Given the description of an element on the screen output the (x, y) to click on. 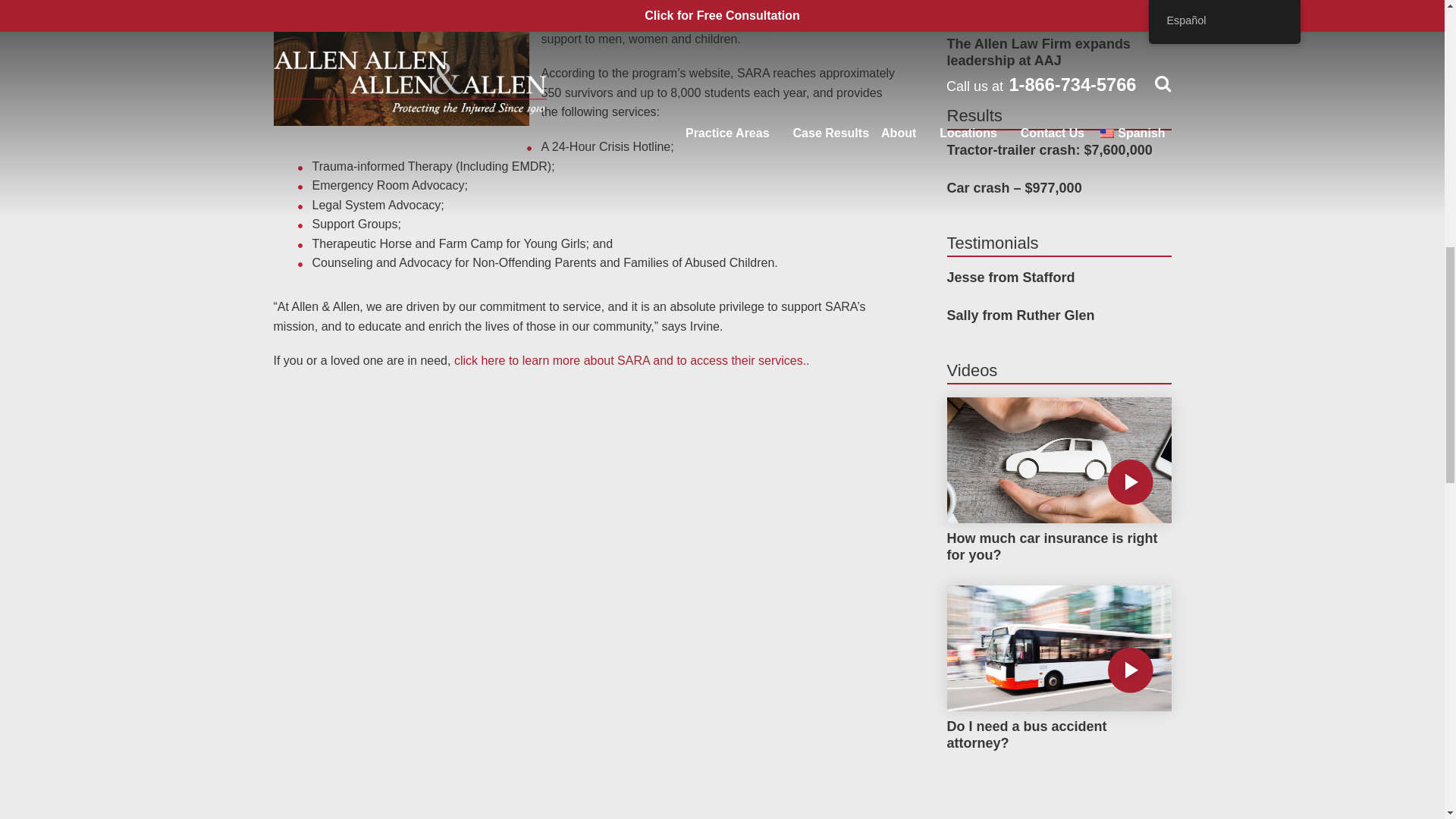
play (1129, 669)
play (1129, 482)
